Given the description of an element on the screen output the (x, y) to click on. 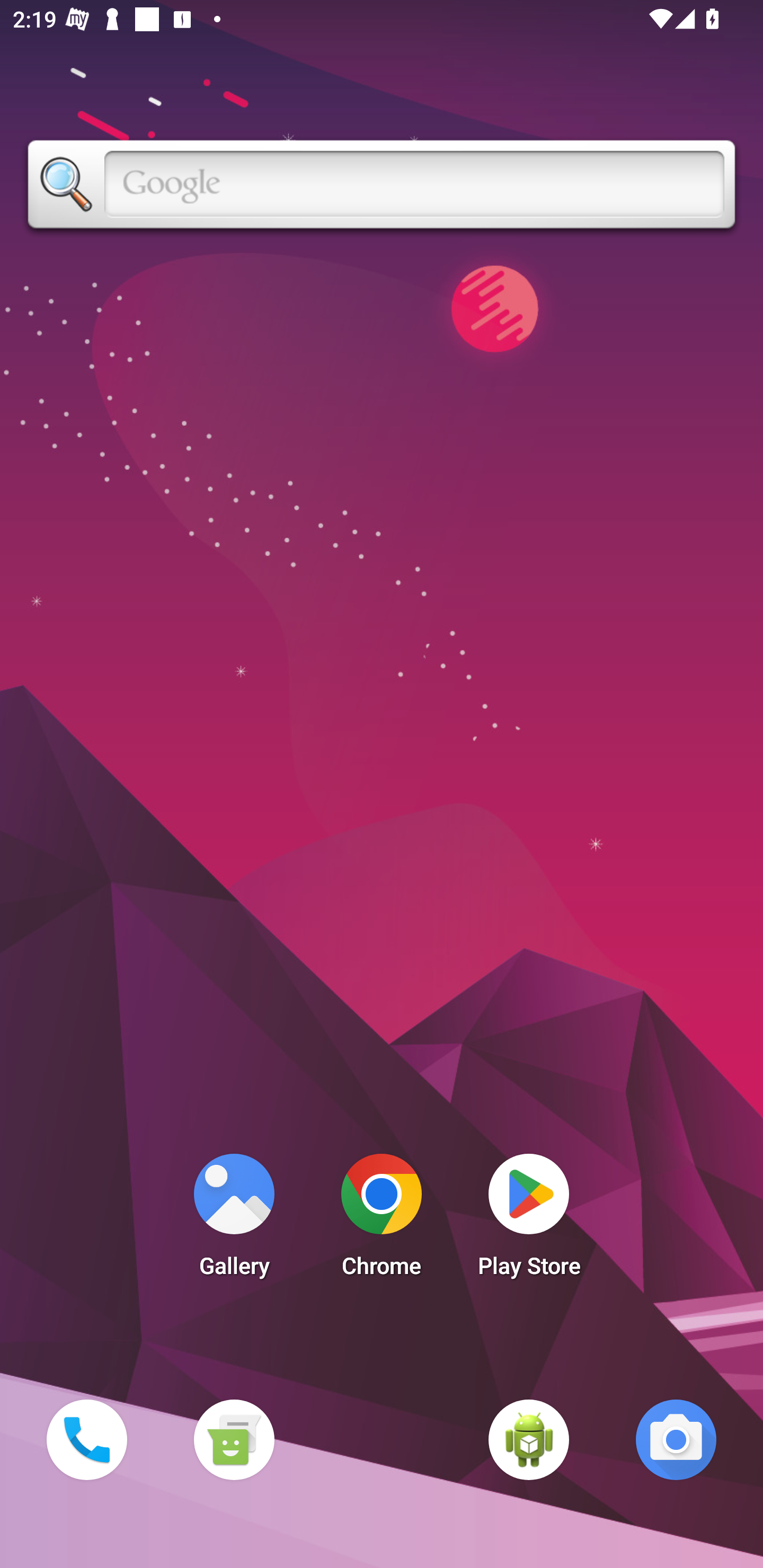
Gallery (233, 1220)
Chrome (381, 1220)
Play Store (528, 1220)
Phone (86, 1439)
Messaging (233, 1439)
WebView Browser Tester (528, 1439)
Camera (676, 1439)
